Given the description of an element on the screen output the (x, y) to click on. 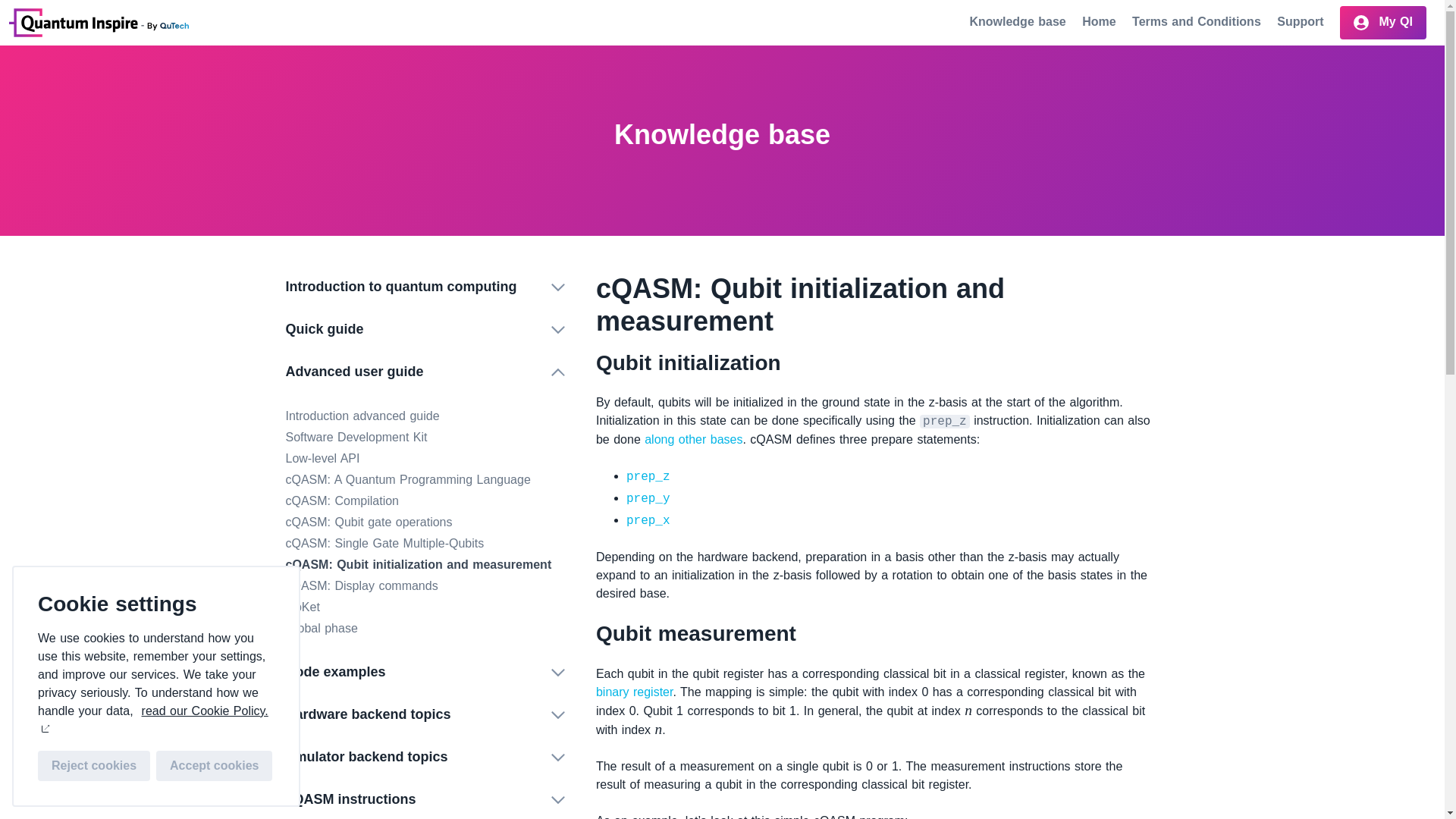
My QI (1382, 22)
cQASM: Single Gate Multiple-Qubits (384, 543)
cQASM: Display commands (361, 585)
Low-level API (322, 458)
Home (98, 22)
Software Development Kit (355, 436)
Knowledge base (1019, 21)
read our Cookie Policy (152, 719)
Advanced user guide (424, 372)
Support (1301, 21)
